Given the description of an element on the screen output the (x, y) to click on. 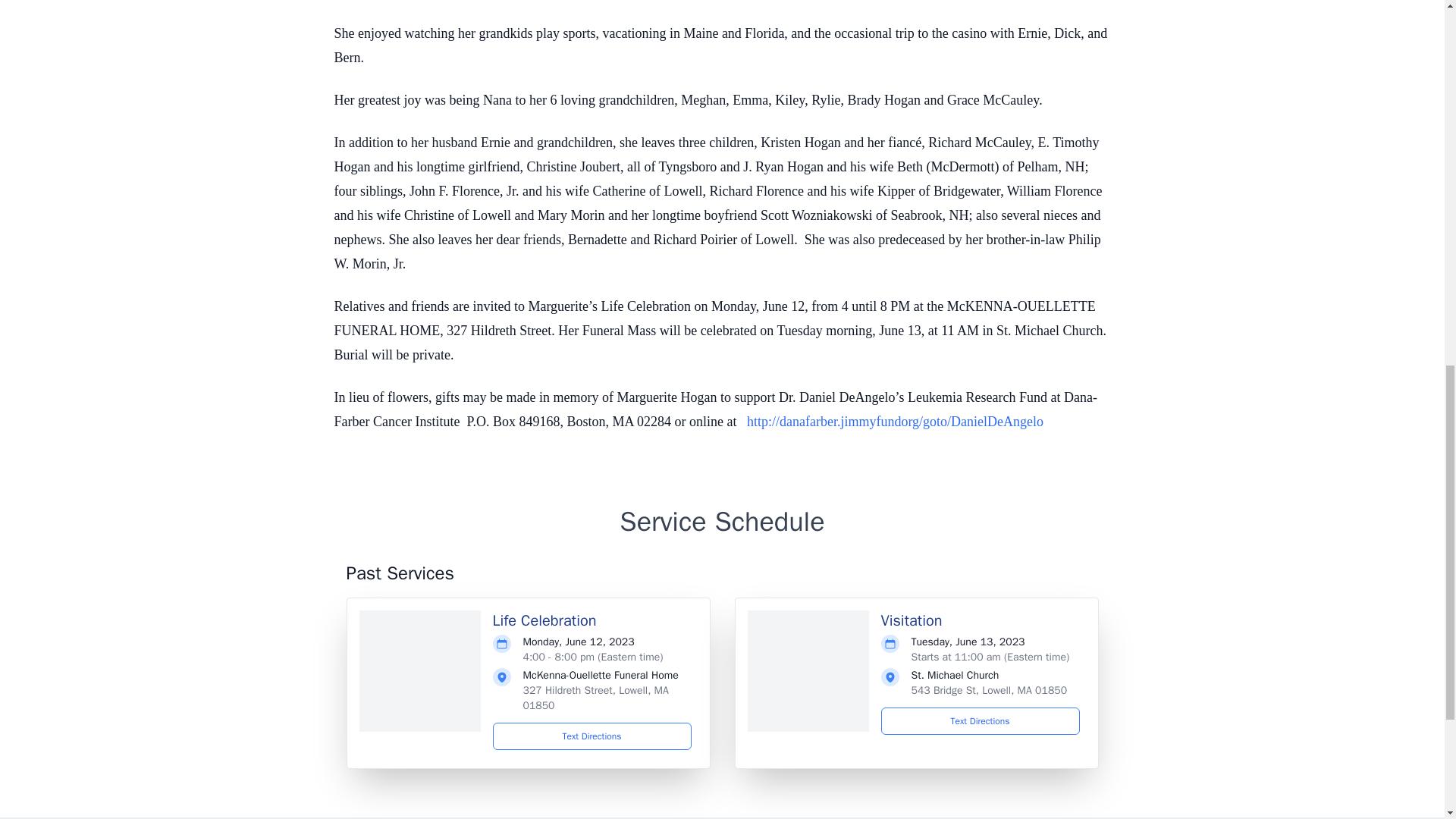
Text Directions (592, 736)
327 Hildreth Street, Lowell, MA 01850 (595, 697)
Text Directions (980, 720)
543 Bridge St, Lowell, MA 01850 (989, 689)
